Given the description of an element on the screen output the (x, y) to click on. 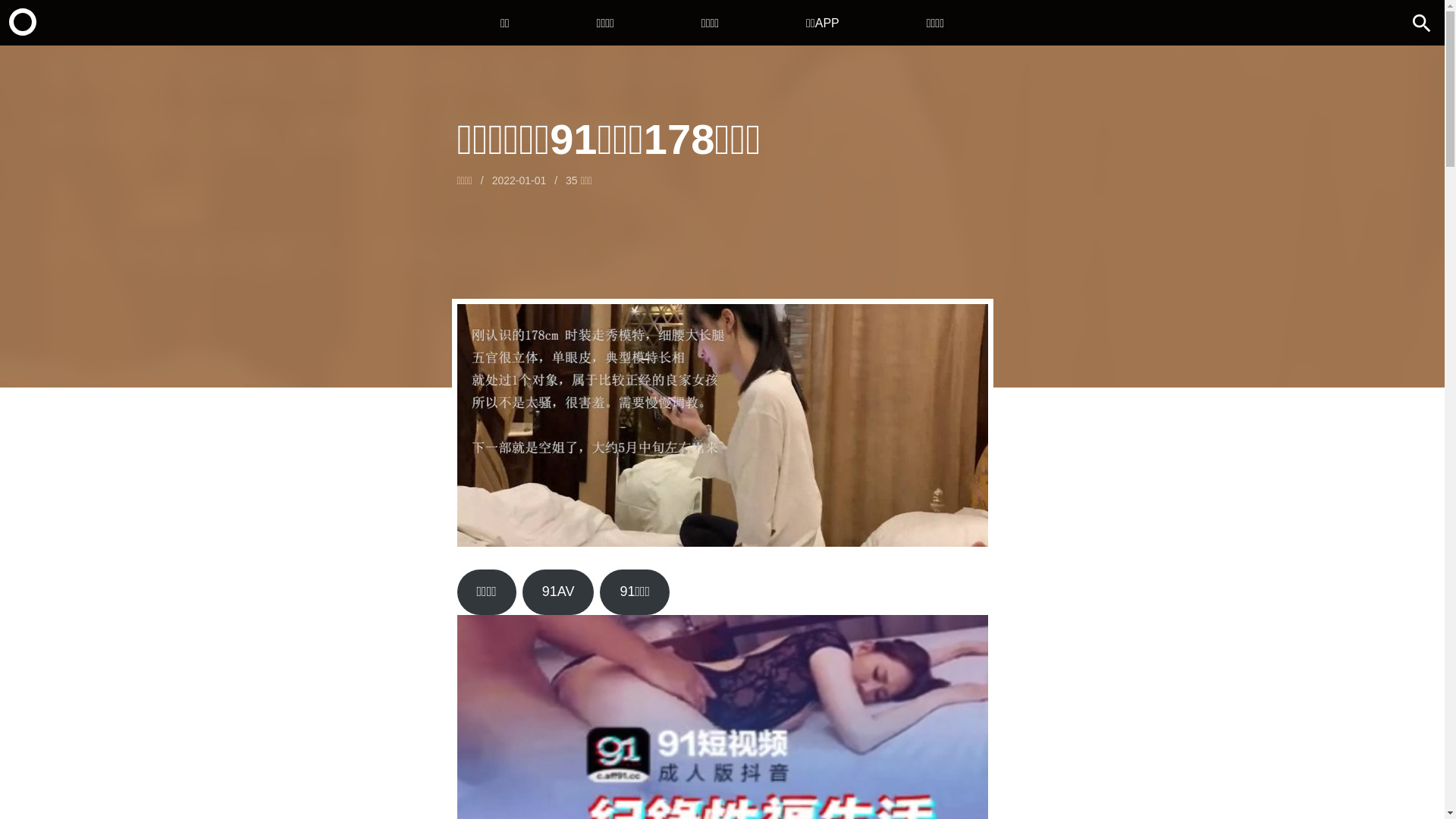
91AV Element type: text (558, 592)
